Given the description of an element on the screen output the (x, y) to click on. 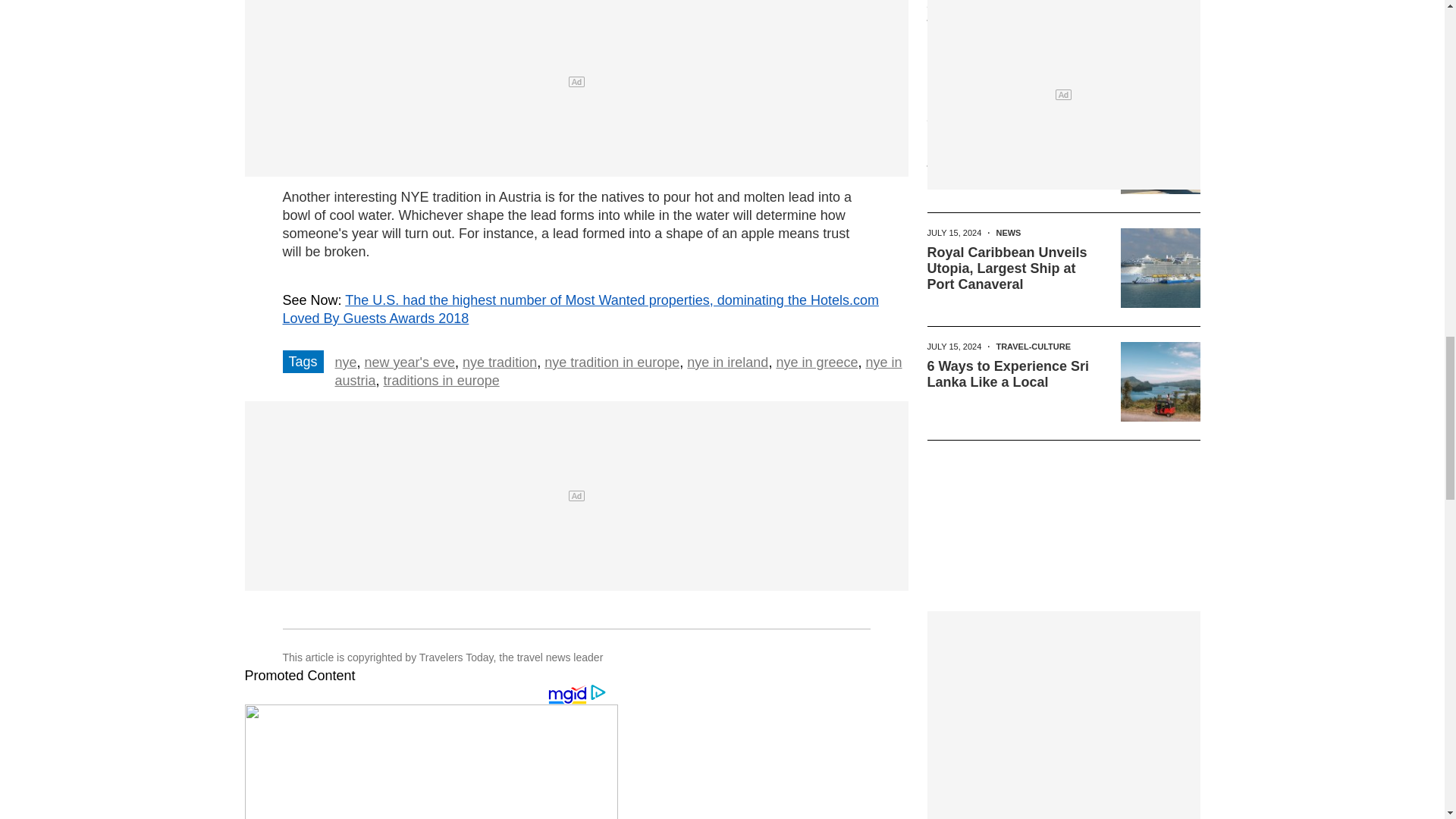
new year's eve (410, 362)
nye tradition in europe (611, 362)
nye (345, 362)
nye in ireland (727, 362)
nye tradition (500, 362)
nye in austria (618, 371)
traditions in europe (441, 380)
nye in greece (816, 362)
